Given the description of an element on the screen output the (x, y) to click on. 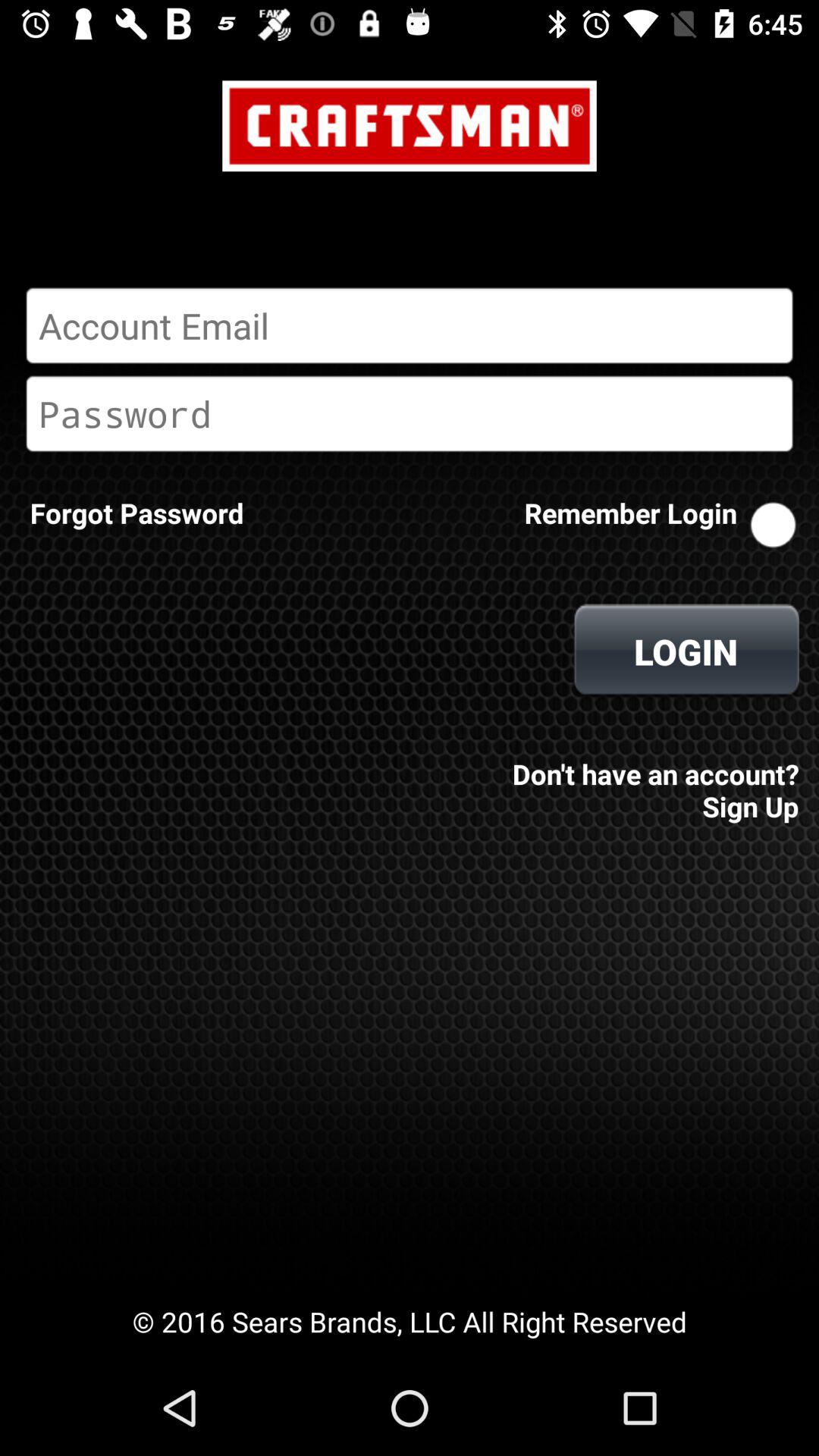
toggle remember login on (773, 524)
